Given the description of an element on the screen output the (x, y) to click on. 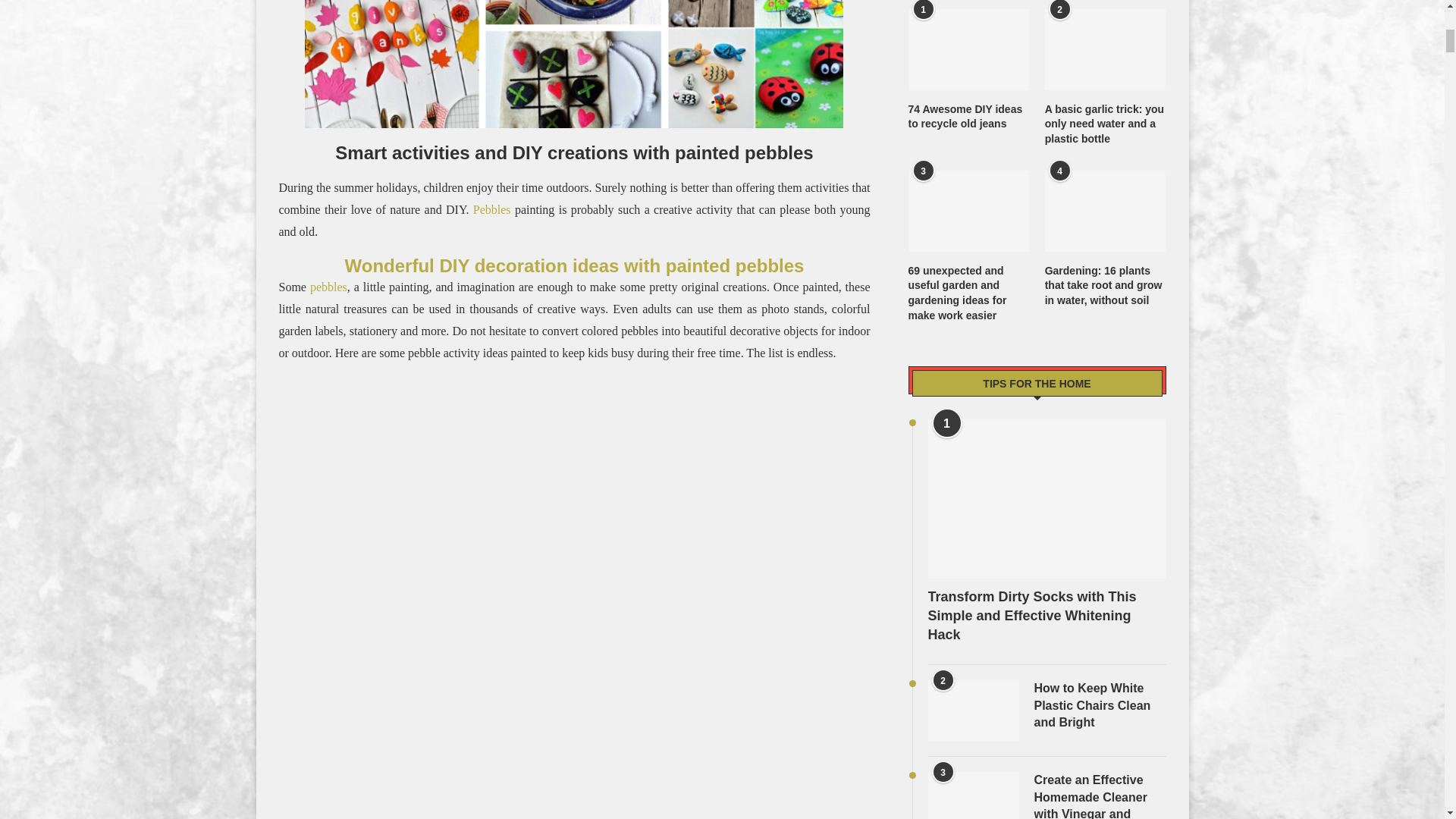
Wonderful DIY decoration ideas with painted pebbles (575, 265)
Pebbles (492, 209)
pebbles (328, 286)
